Given the description of an element on the screen output the (x, y) to click on. 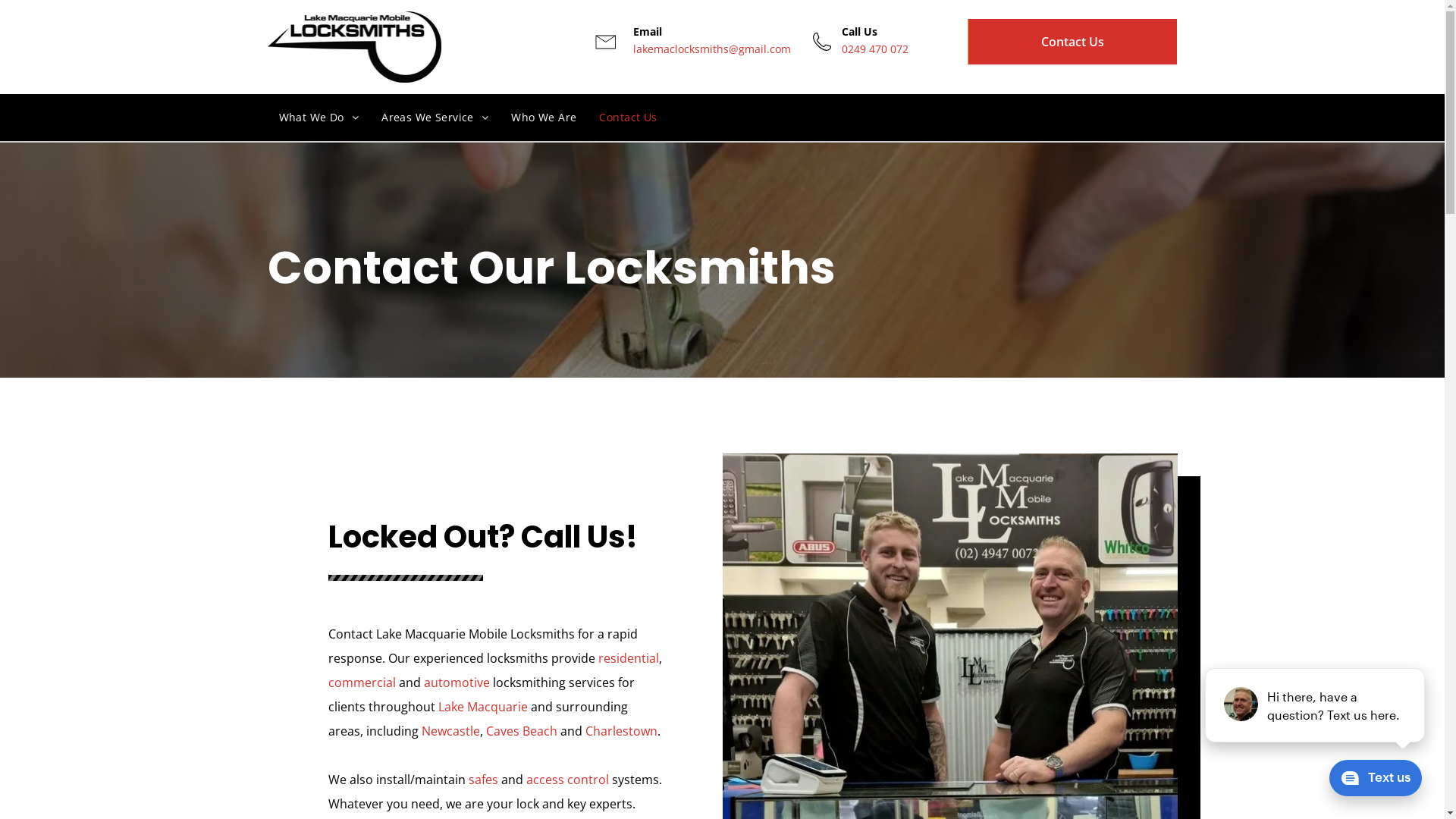
access control Element type: text (567, 779)
automotive Element type: text (456, 682)
Newcastle Element type: text (450, 730)
Caves Beach Element type: text (520, 730)
Lake Macquarie Element type: text (482, 706)
0249 470 072 Element type: text (874, 48)
safes Element type: text (483, 779)
Areas We Service Element type: text (434, 117)
What We Do Element type: text (318, 117)
podium webchat widget prompt Element type: hover (1315, 705)
Contact Us Element type: text (1072, 41)
Who We Are Element type: text (543, 117)
Contact Us Element type: text (627, 117)
Charlestown Element type: text (621, 730)
Welcome to Lake Macquarie Mobile Locksmiths Element type: hover (353, 46)
residential Element type: text (627, 657)
lakemaclocksmiths@gmail.com Element type: text (711, 48)
commercial Element type: text (361, 682)
